Given the description of an element on the screen output the (x, y) to click on. 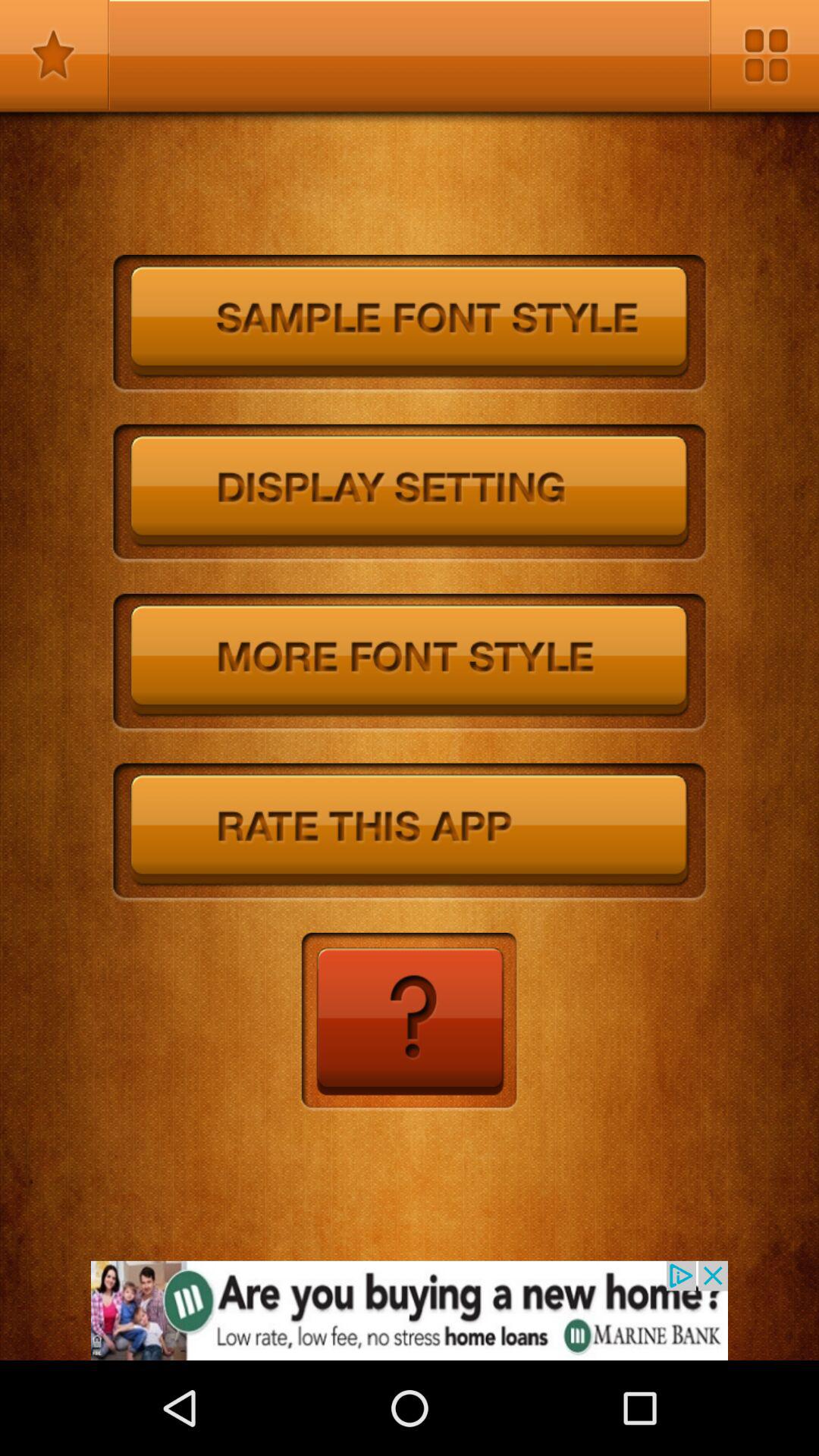
advertising (409, 1310)
